Given the description of an element on the screen output the (x, y) to click on. 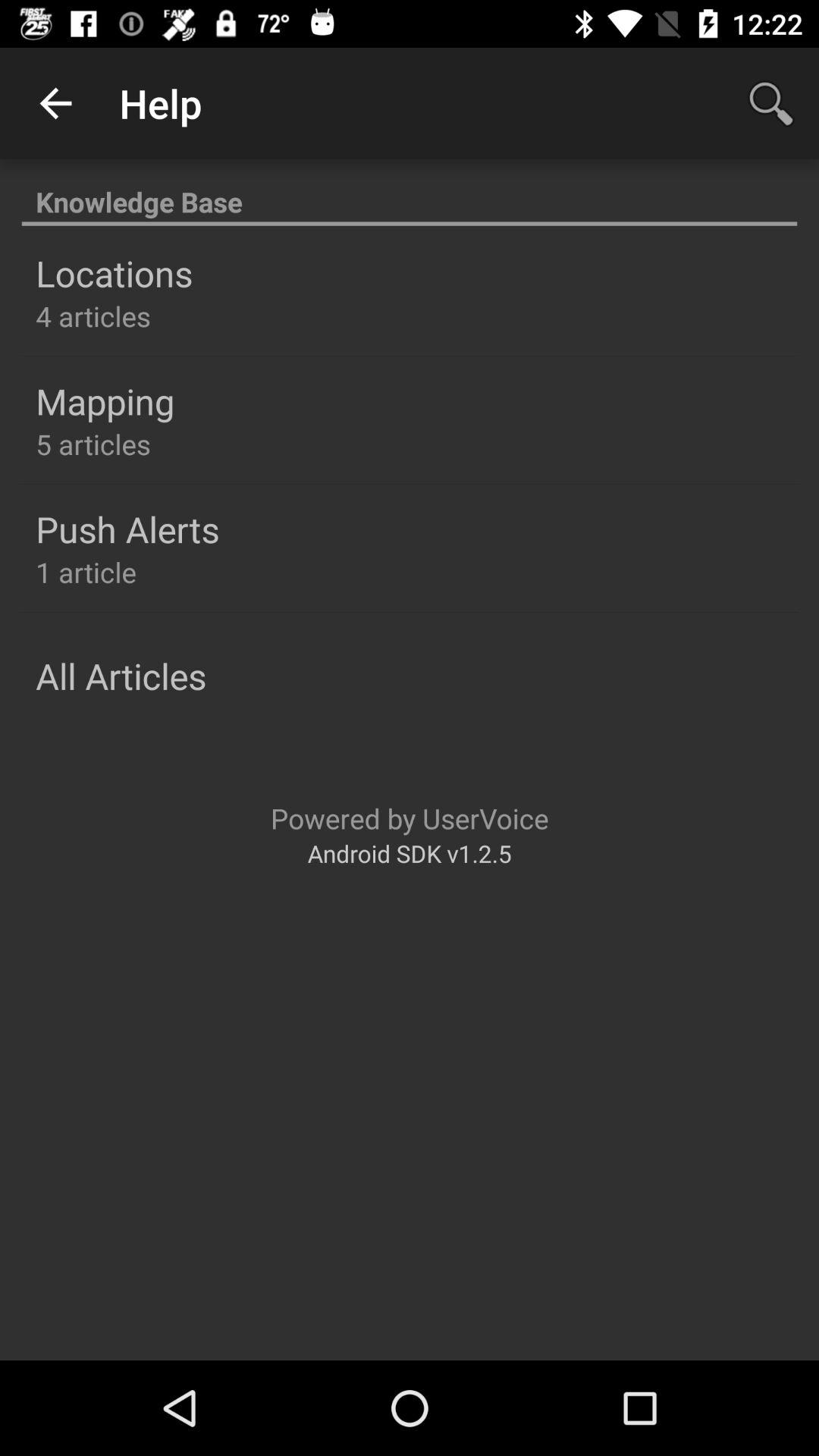
turn on app next to the help (55, 103)
